Given the description of an element on the screen output the (x, y) to click on. 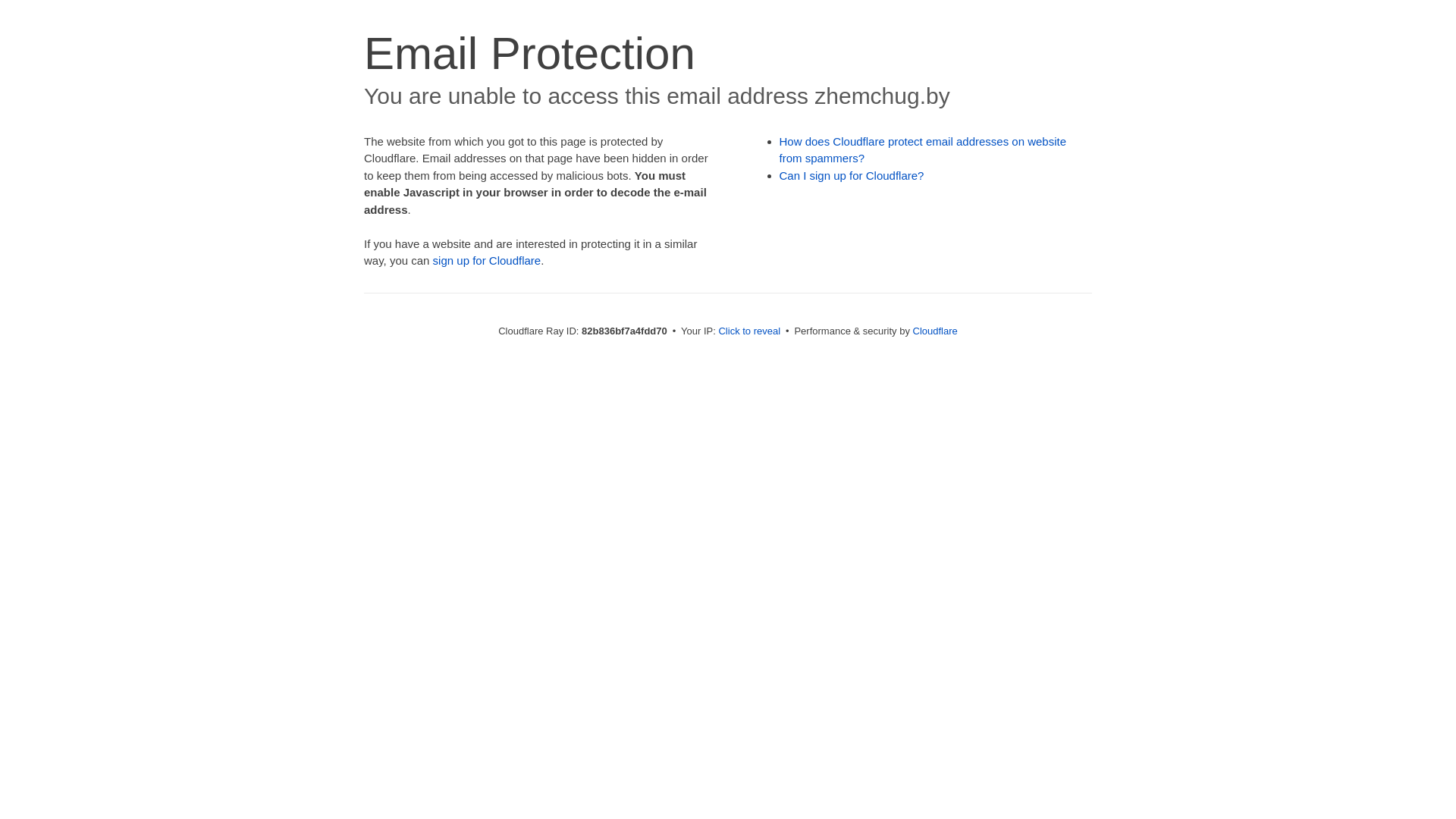
Can I sign up for Cloudflare? Element type: text (851, 175)
sign up for Cloudflare Element type: text (487, 260)
Click to reveal Element type: text (749, 330)
Cloudflare Element type: text (935, 330)
